Given the description of an element on the screen output the (x, y) to click on. 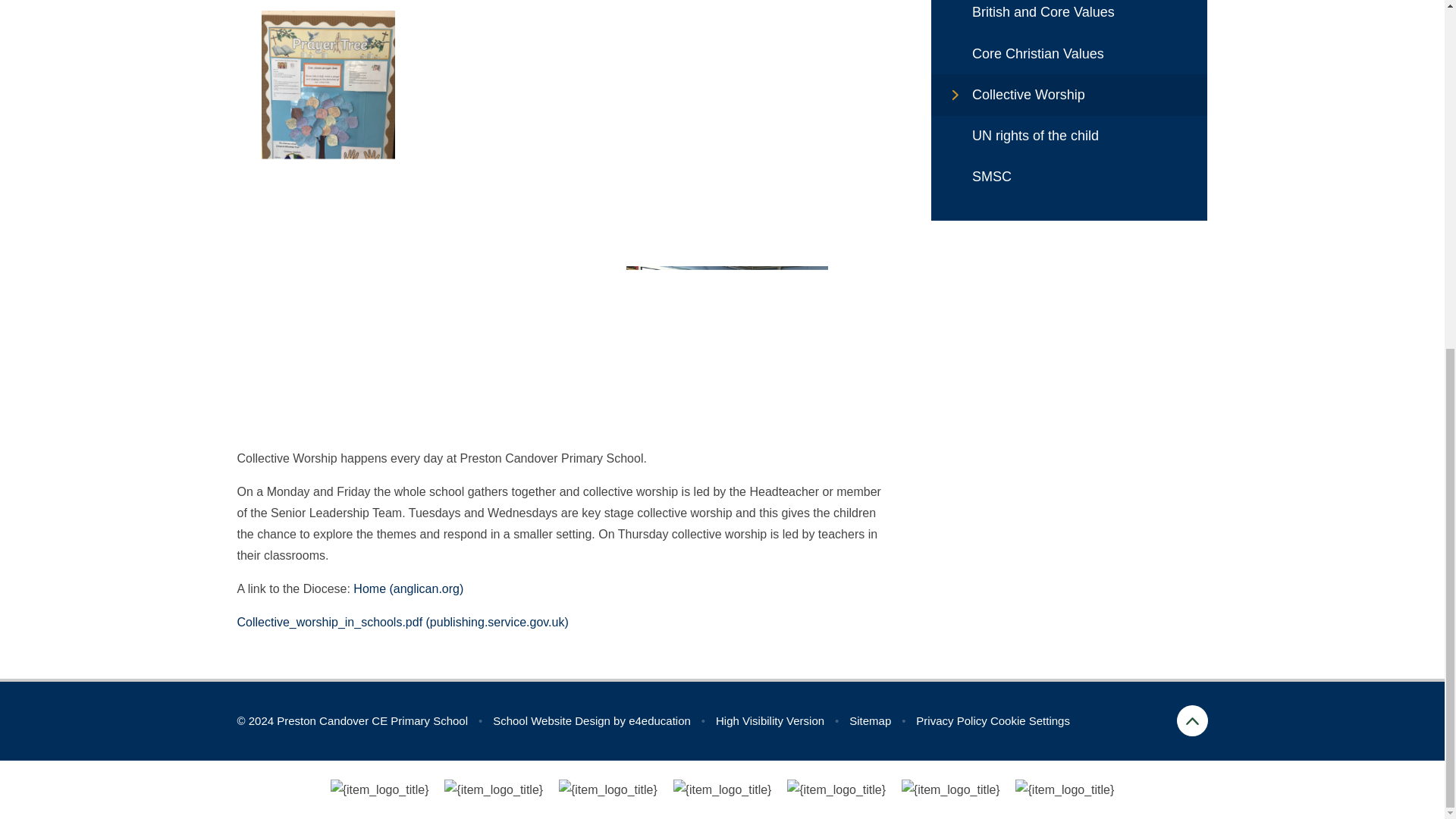
Cookie Settings (1030, 720)
